Given the description of an element on the screen output the (x, y) to click on. 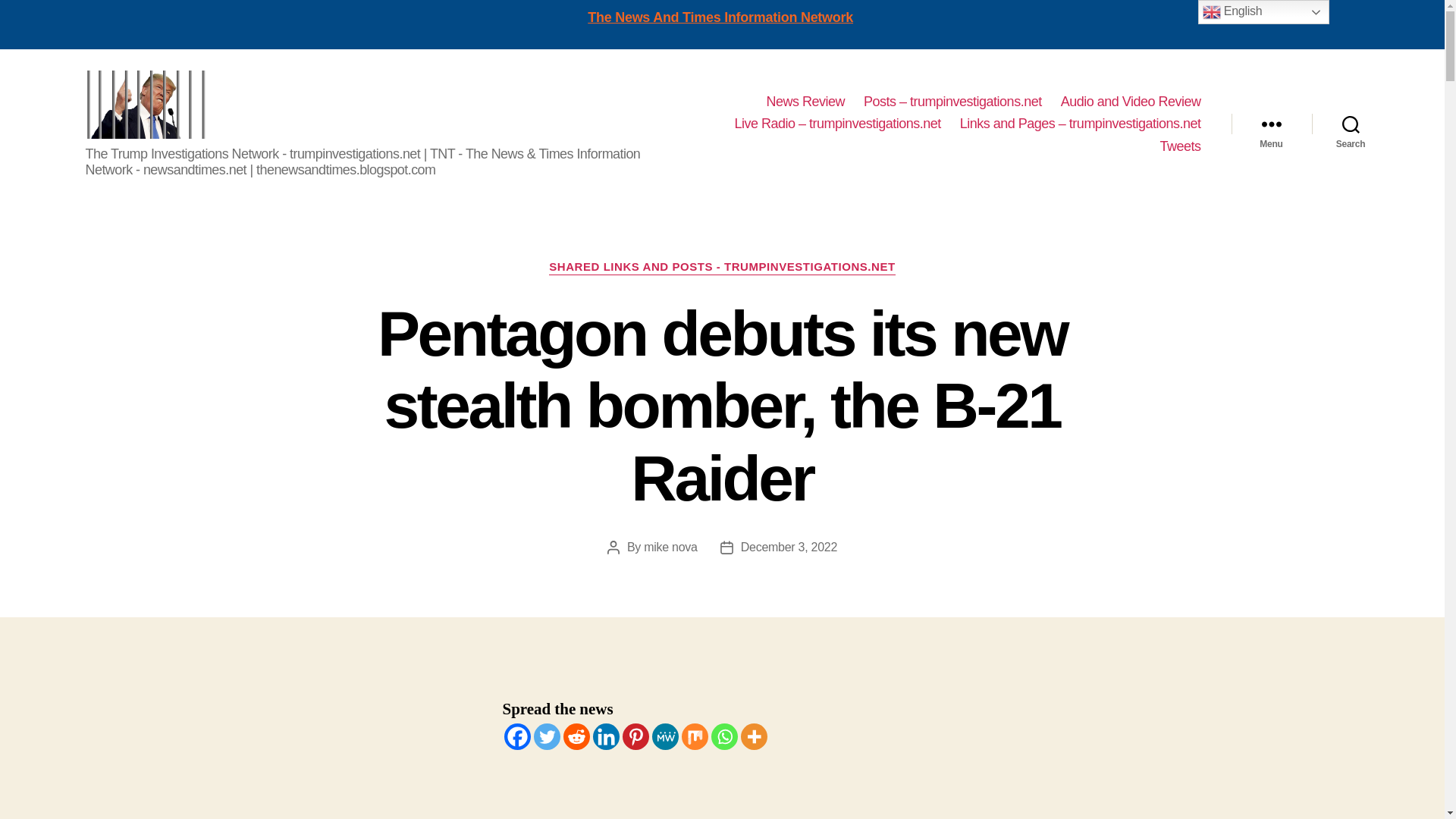
SHARED LINKS AND POSTS - TRUMPINVESTIGATIONS.NET (721, 267)
December 3, 2022 (789, 546)
Menu (1271, 123)
Facebook (516, 736)
Linkedin (606, 736)
Tweets (1178, 146)
MeWe (665, 736)
Mix (694, 736)
mike nova (670, 546)
Whatsapp (724, 736)
Twitter (547, 736)
Reddit (575, 736)
The News And Times Information Network (720, 17)
Pinterest (634, 736)
Search (1350, 123)
